Given the description of an element on the screen output the (x, y) to click on. 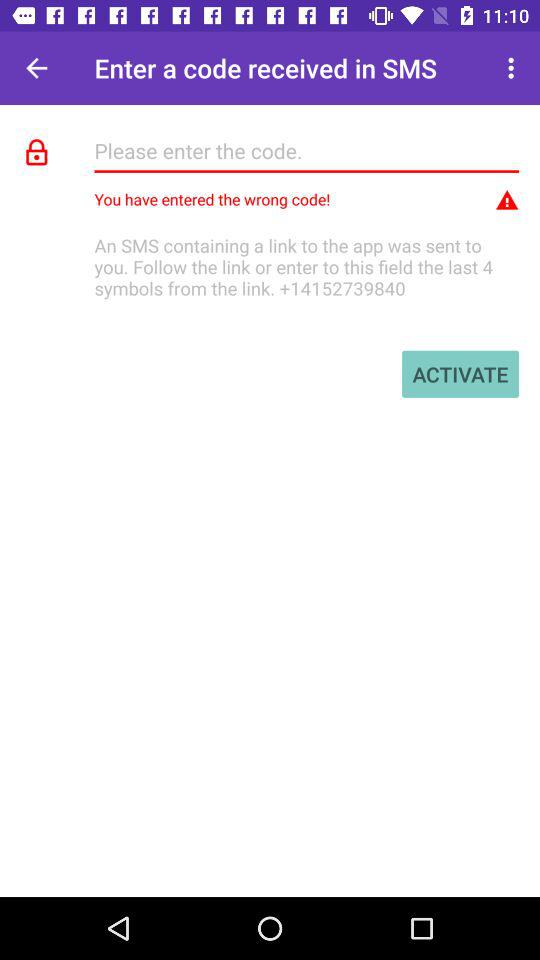
type the code (306, 150)
